Given the description of an element on the screen output the (x, y) to click on. 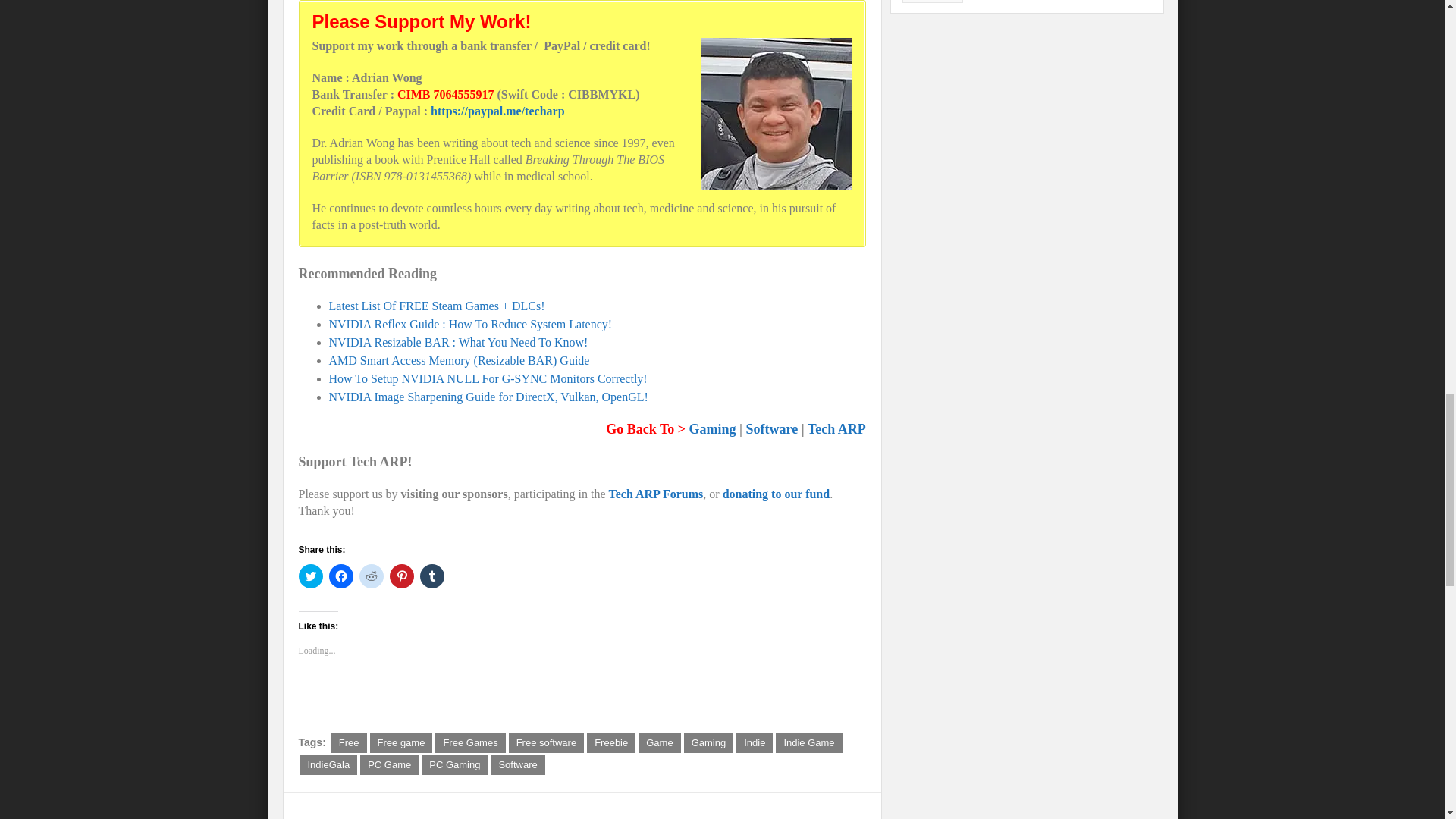
Click to share on Twitter (310, 576)
Click to share on Reddit (371, 576)
Click to share on Tumblr (432, 576)
Click to share on Pinterest (401, 576)
Click to share on Facebook (341, 576)
